Given the description of an element on the screen output the (x, y) to click on. 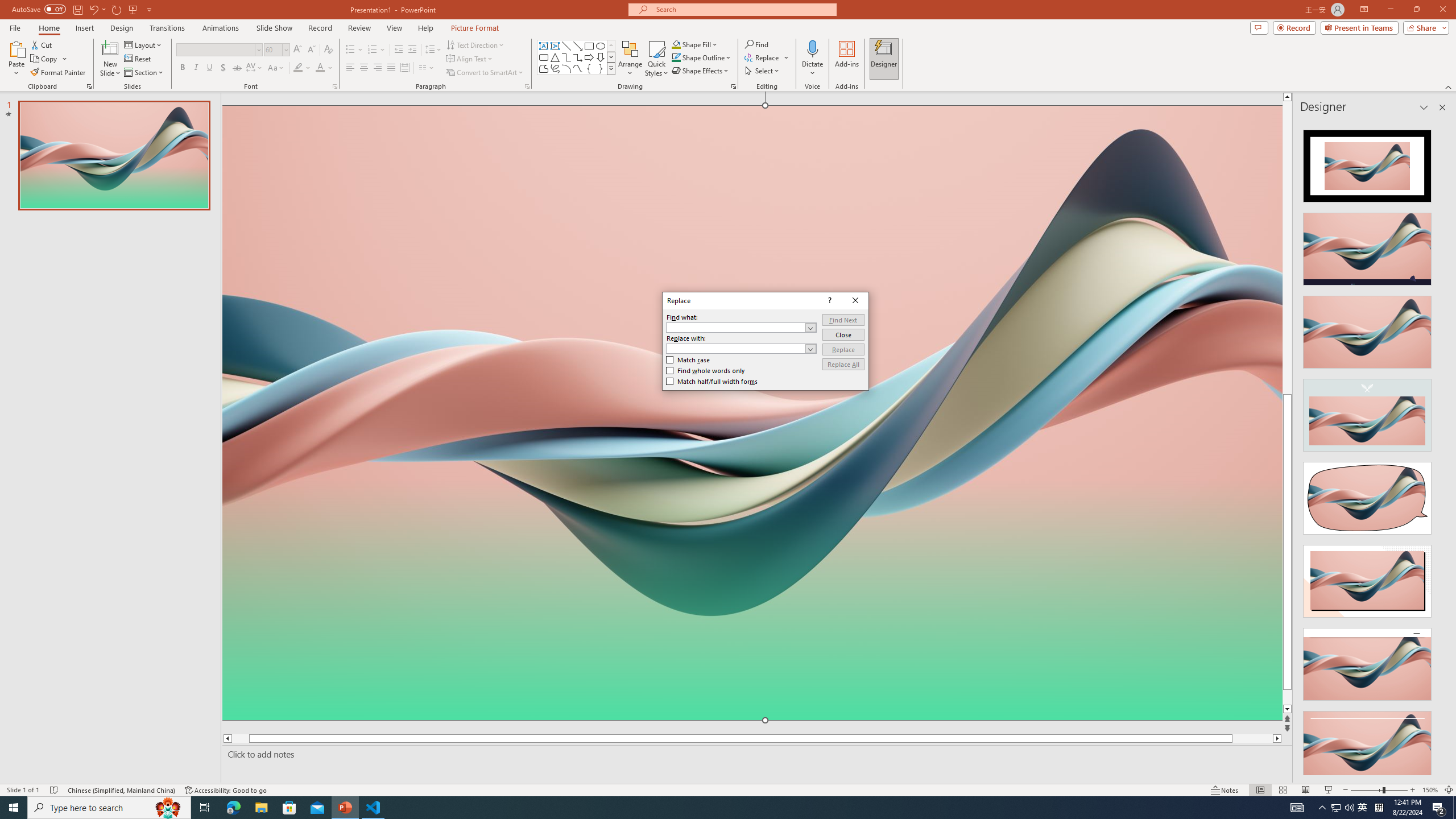
Match case (687, 359)
